Given the description of an element on the screen output the (x, y) to click on. 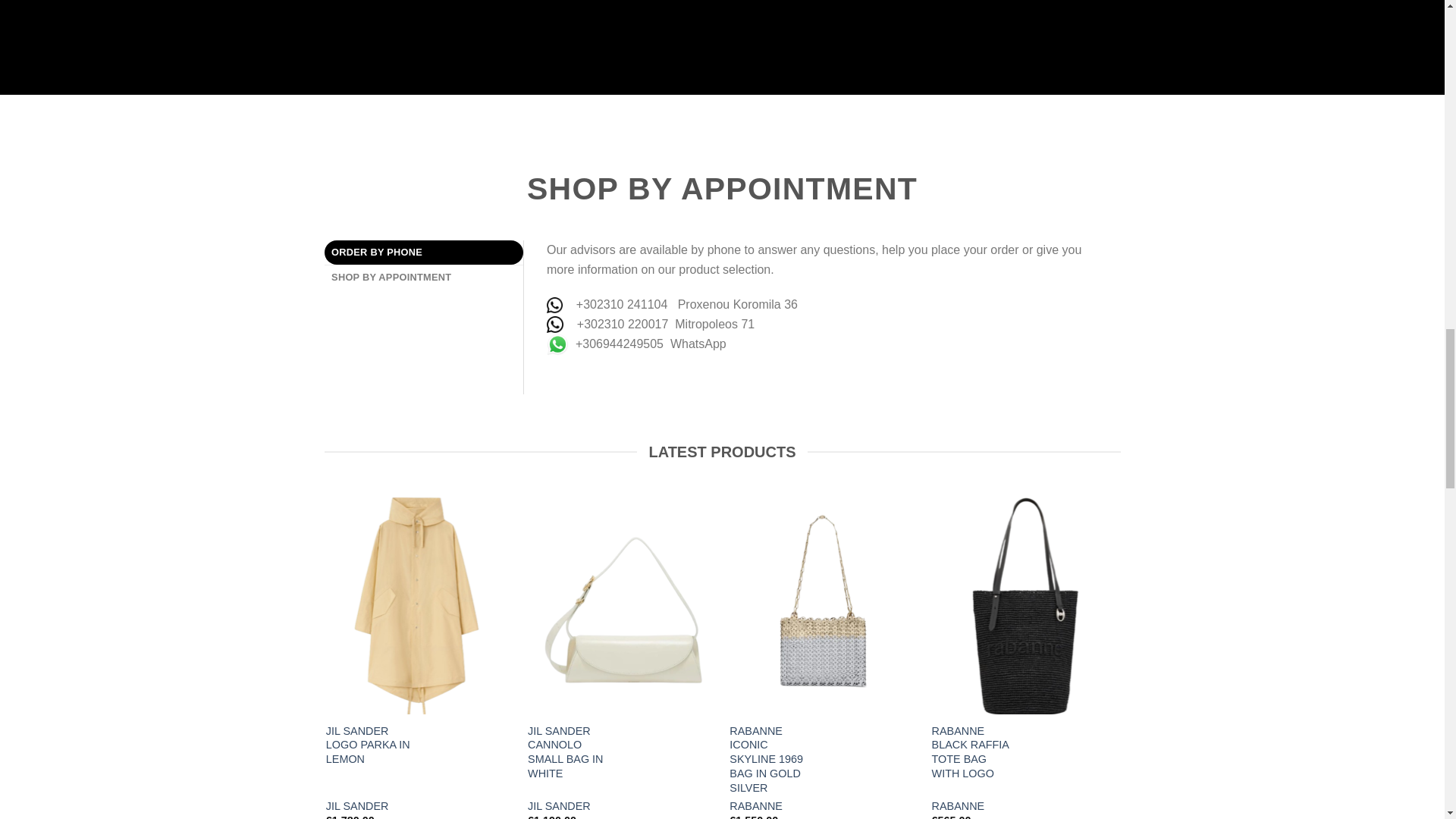
ORDER BY PHONE (424, 252)
SUBMIT (585, 747)
JIL SANDER LOGO PARKA IN LEMON (368, 744)
SHOP BY APPOINTMENT (424, 277)
JIL SANDER (357, 806)
